Given the description of an element on the screen output the (x, y) to click on. 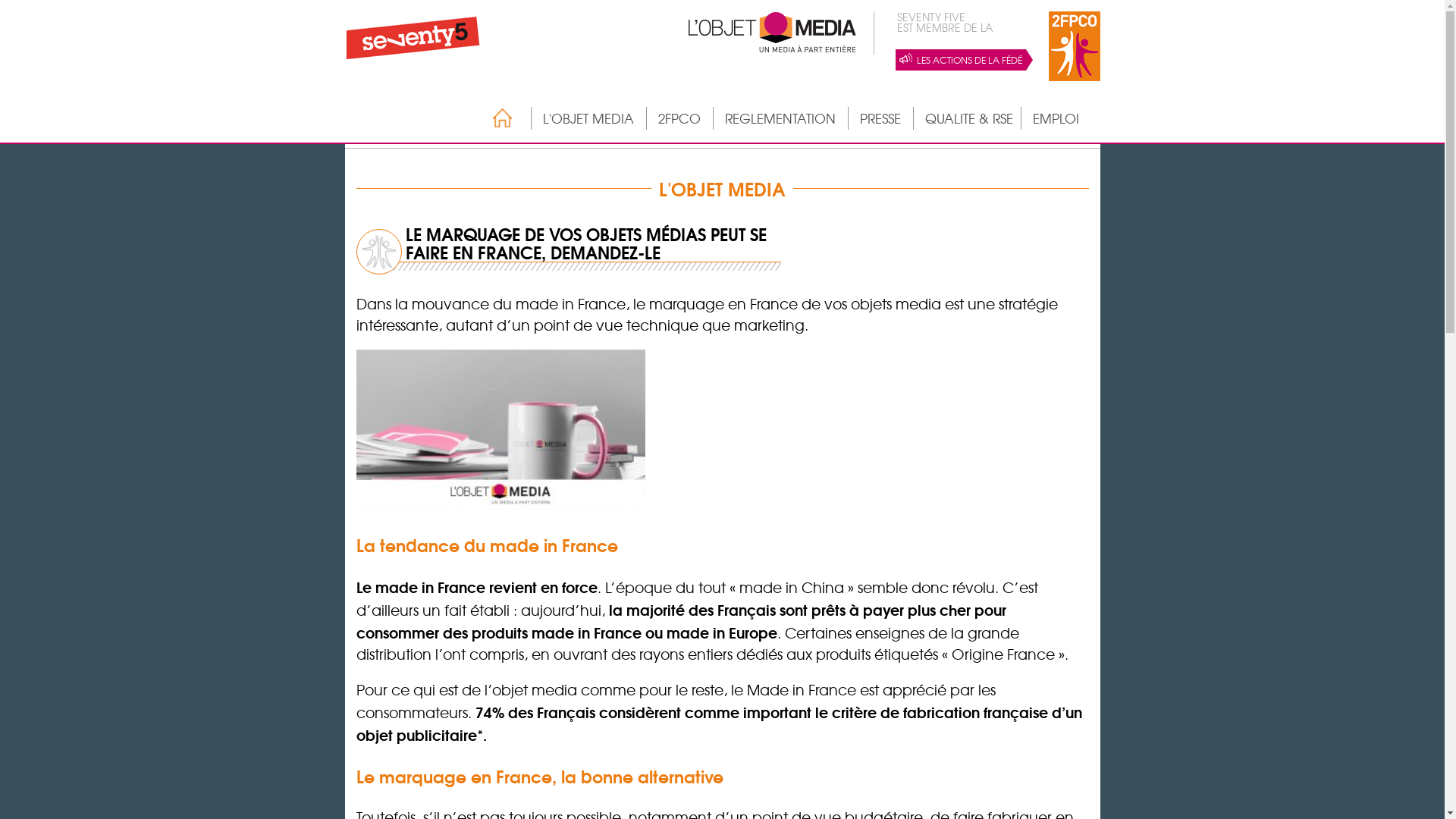
Accueil Element type: hover (494, 117)
